Given the description of an element on the screen output the (x, y) to click on. 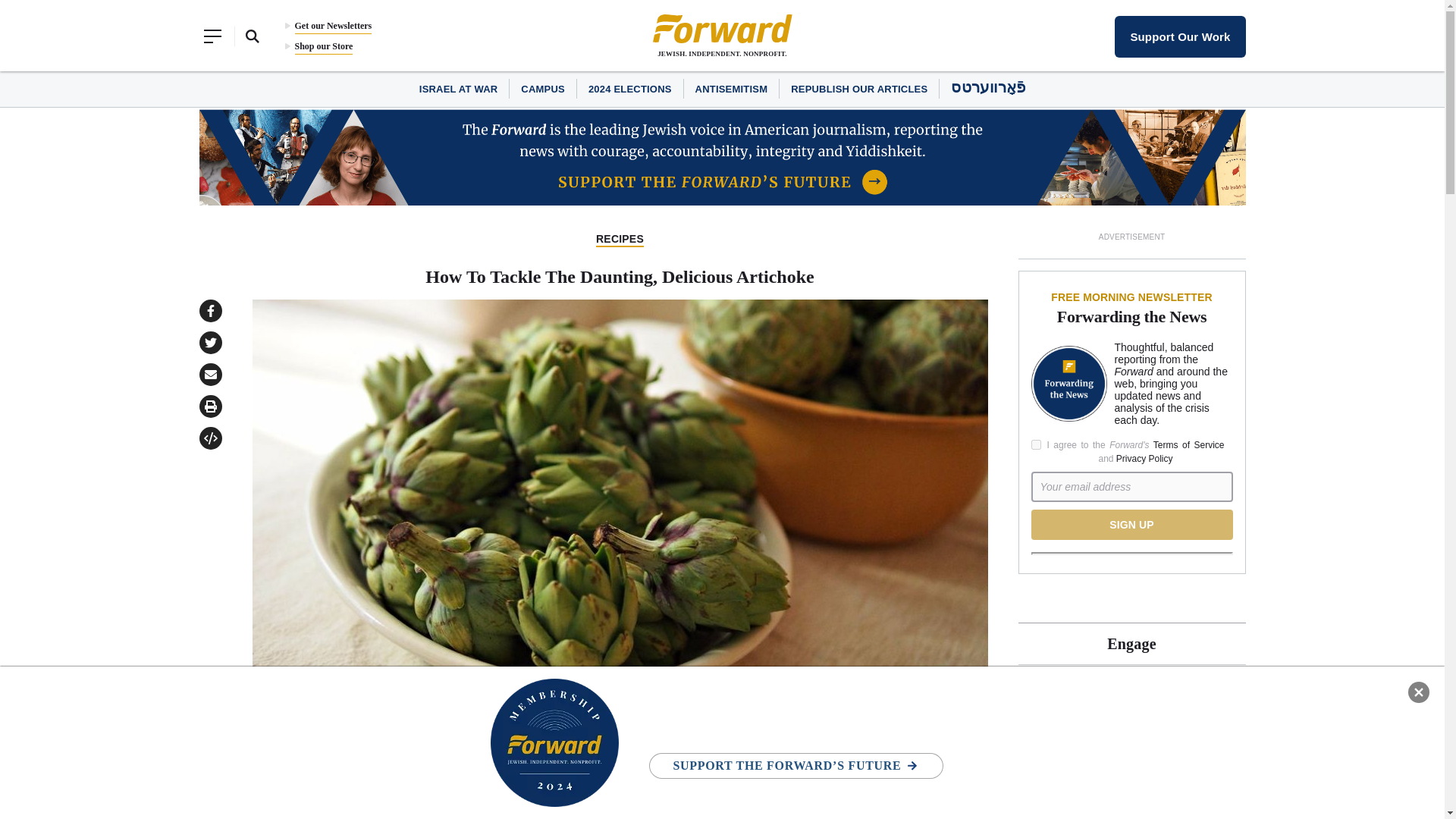
Close (1418, 691)
2024 ELECTIONS (629, 89)
Sign Up (1131, 524)
Yes (1035, 444)
Click to open publish popup (209, 437)
Support Our Work (1179, 35)
ISRAEL AT WAR (458, 89)
Shop our Store (323, 46)
CAMPUS (542, 89)
Get our Newsletters (332, 26)
